Given the description of an element on the screen output the (x, y) to click on. 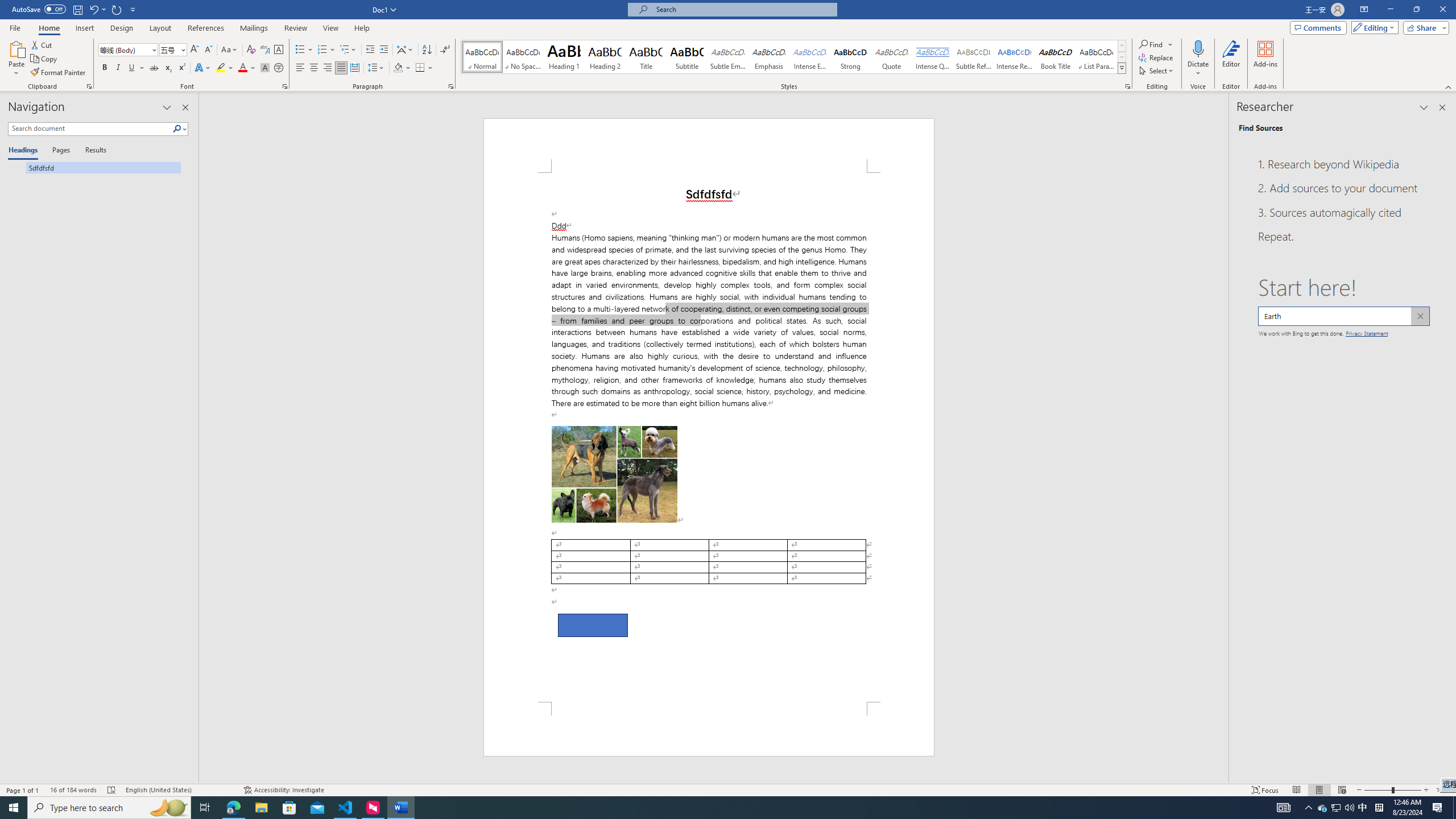
Font Size (172, 49)
Subtitle (686, 56)
Find Sources (1260, 127)
Insert (83, 28)
Close (1442, 9)
Asian Layout (405, 49)
Focus  (1265, 790)
File Tab (15, 27)
Sdfdfsfd (94, 167)
Mailings (253, 28)
Search (177, 128)
Strong (849, 56)
